Given the description of an element on the screen output the (x, y) to click on. 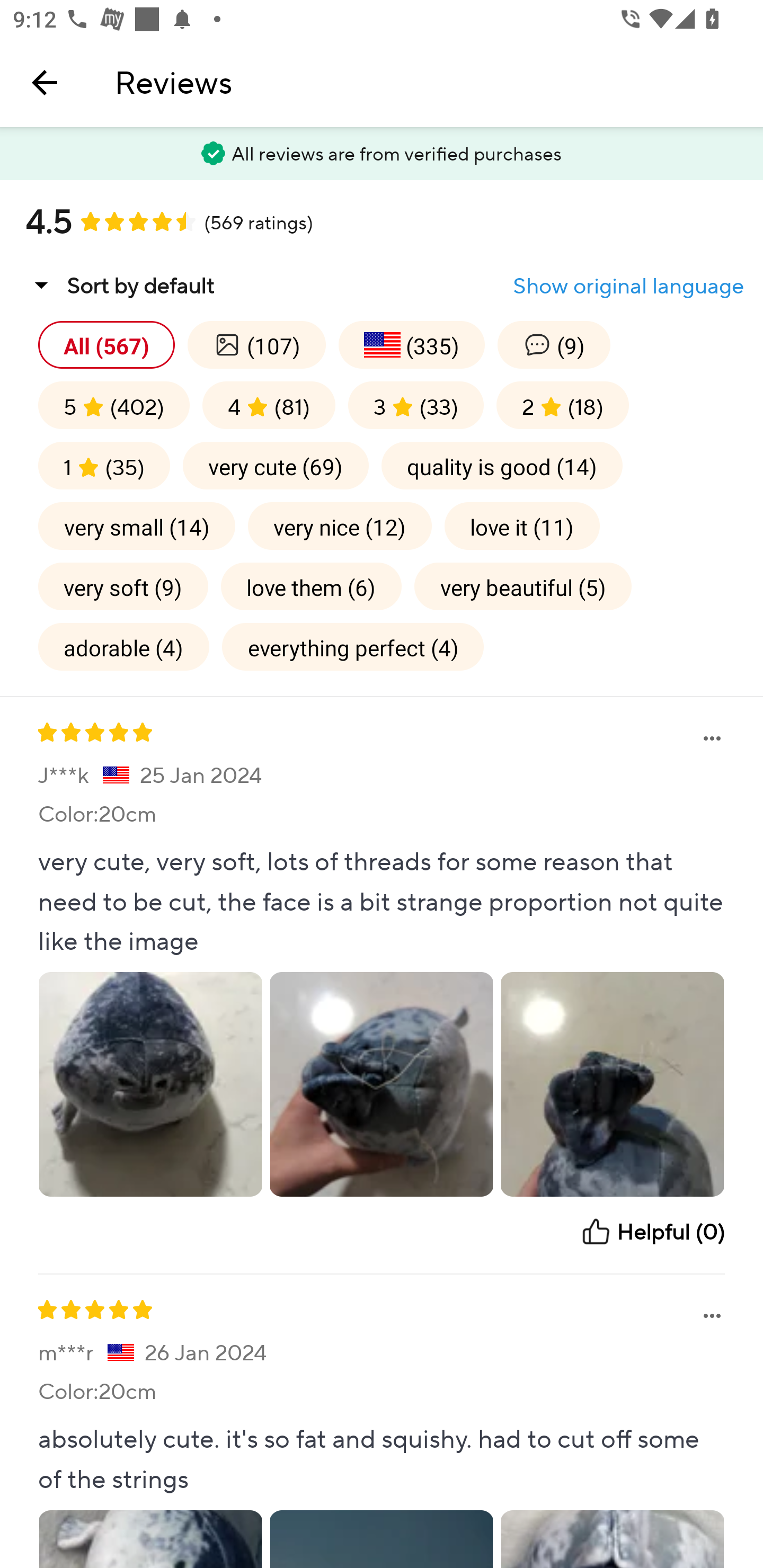
Navigate up (44, 82)
Sort by default (119, 285)
Show original language (627, 285)
All (567) (106, 344)
 (107) (256, 344)
 (335) (411, 344)
 (9) (553, 344)
5 (402) (113, 405)
4 (81) (268, 405)
3 (33) (415, 405)
2 (18) (562, 405)
1 (35) (104, 465)
very cute (69) (275, 465)
quality is good (14) (501, 465)
very small (14) (136, 525)
very nice (12) (339, 525)
love it (11) (521, 525)
very soft (9) (123, 585)
love them (6) (311, 585)
very beautiful (5) (522, 585)
adorable (4) (123, 646)
everything perfect (4) (352, 646)
Helpful (0) (651, 1231)
